Given the description of an element on the screen output the (x, y) to click on. 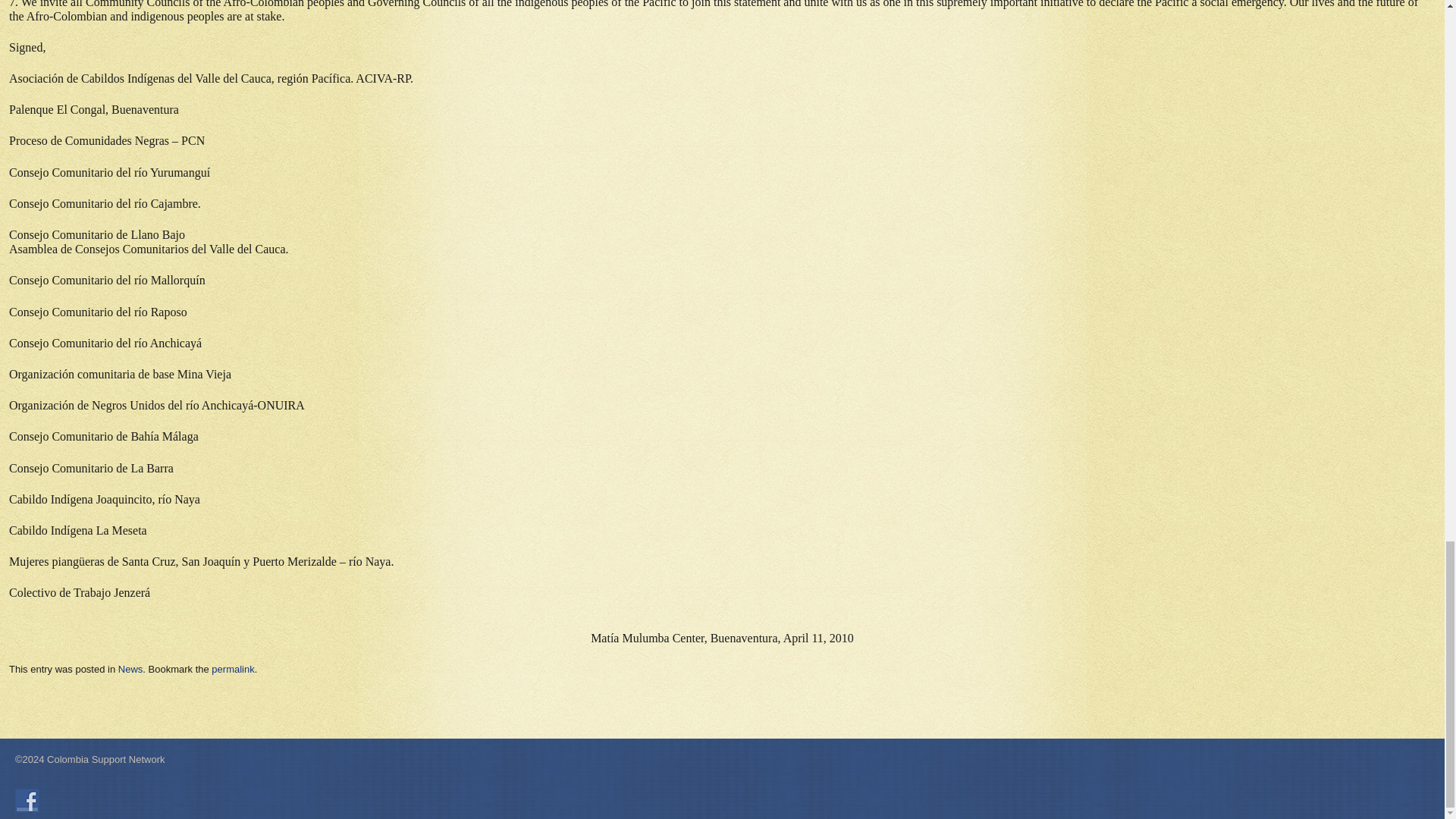
permalink (232, 668)
Follow Us on Facebook (26, 800)
News (129, 668)
Permalink to Urgent: Declaration of Buenaventura (232, 668)
